Given the description of an element on the screen output the (x, y) to click on. 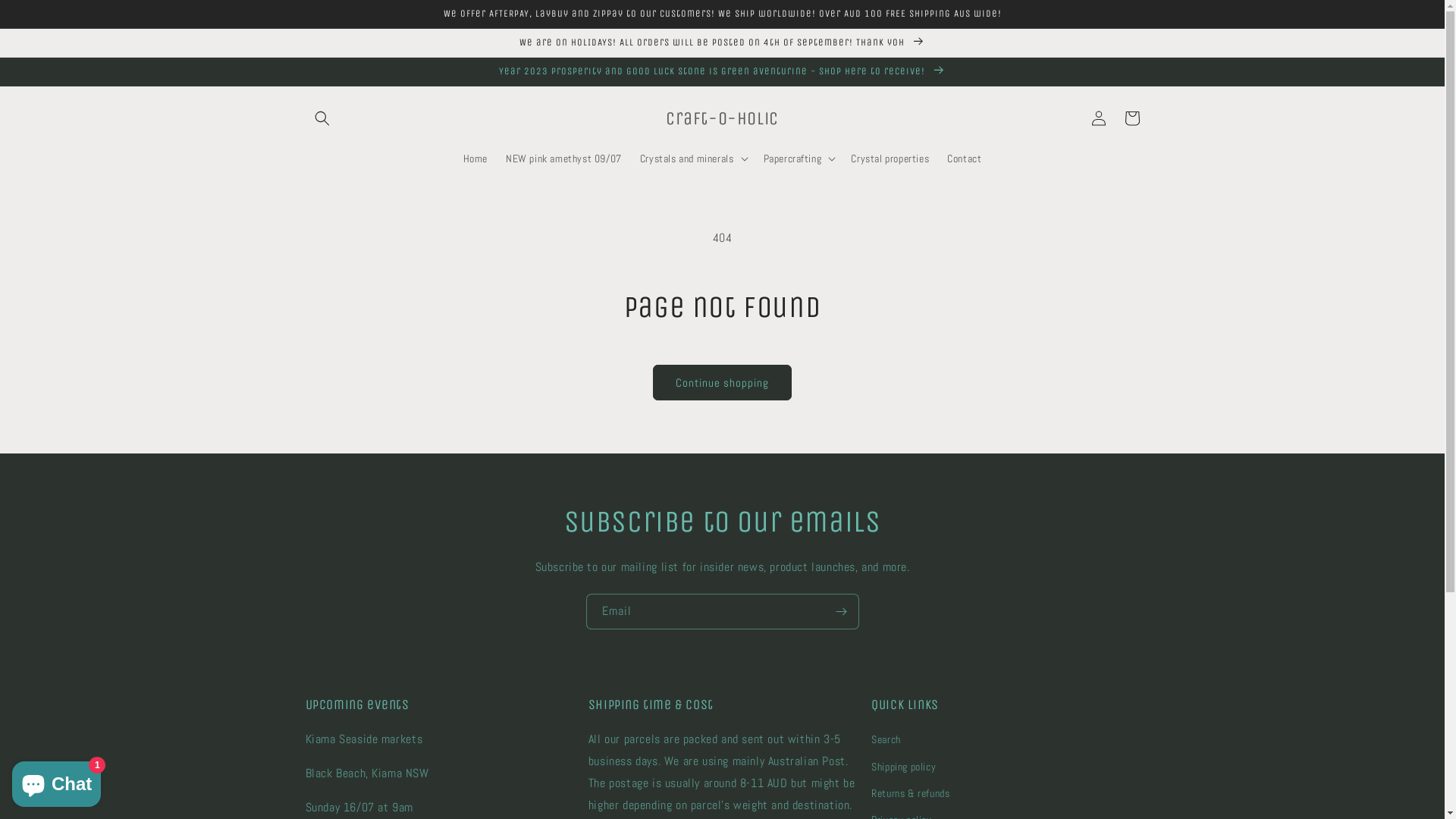
Crystal properties Element type: text (889, 158)
Search Element type: text (885, 741)
Shopify online store chat Element type: hover (56, 780)
Home Element type: text (475, 158)
NEW pink amethyst 09/07 Element type: text (563, 158)
Cart Element type: text (1131, 117)
Shipping policy Element type: text (903, 766)
Craft-O-Holic Element type: text (722, 117)
Continue shopping Element type: text (721, 382)
Contact Element type: text (964, 158)
Log in Element type: text (1097, 117)
Returns & refunds Element type: text (910, 793)
